Given the description of an element on the screen output the (x, y) to click on. 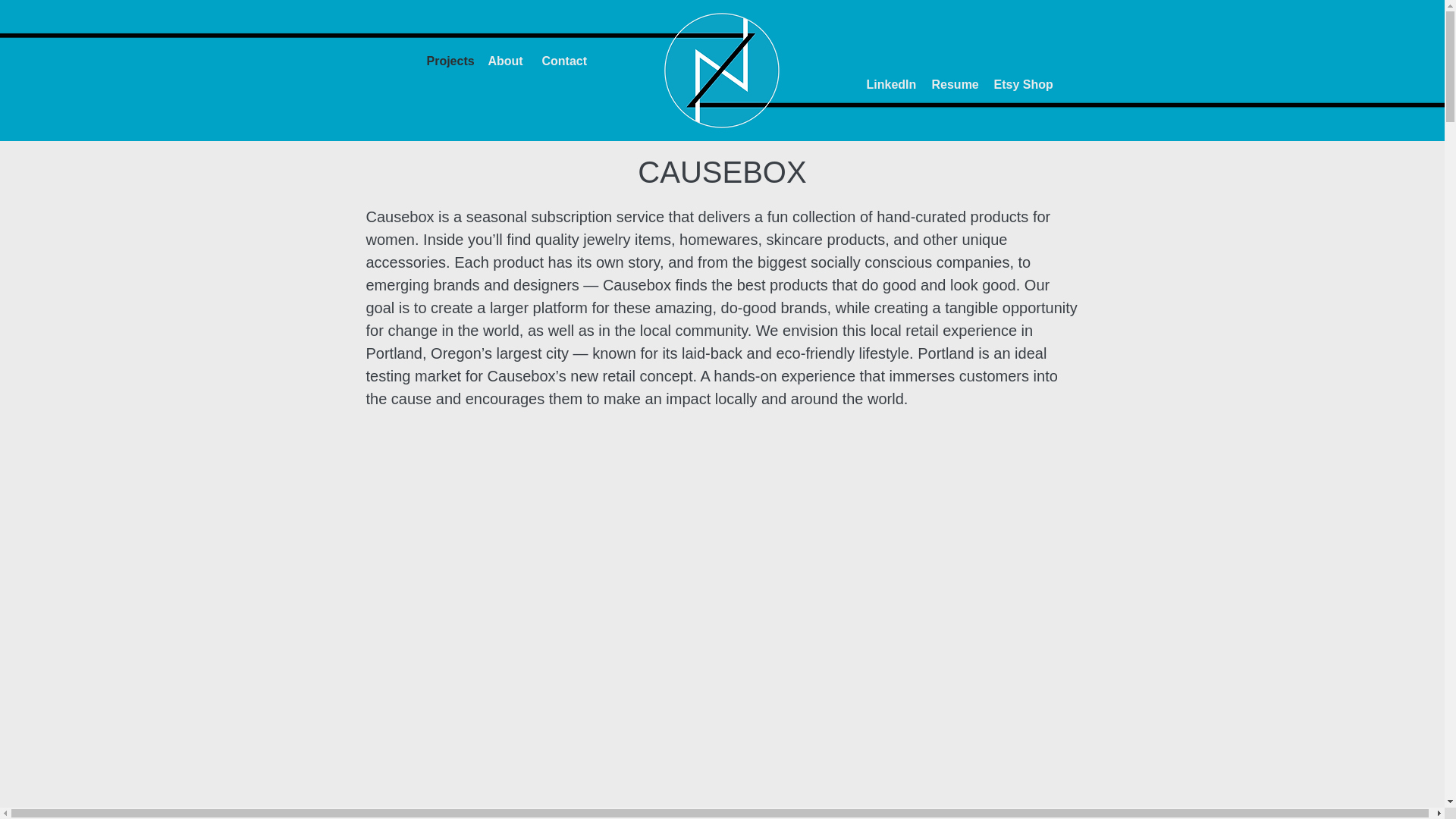
Etsy Shop (1022, 84)
About (505, 60)
Resume (954, 84)
Contact (562, 60)
LinkedIn (890, 84)
Projects (447, 60)
